Given the description of an element on the screen output the (x, y) to click on. 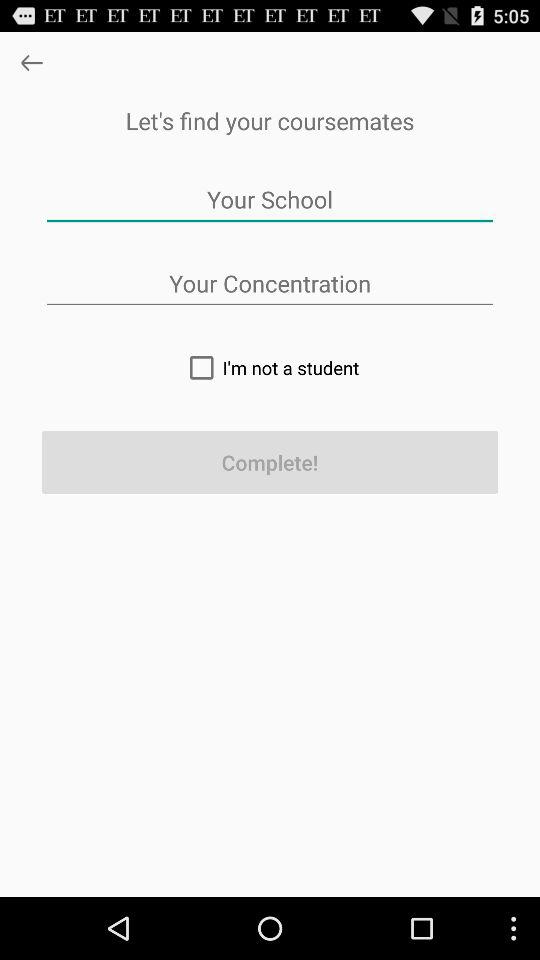
flip until complete! (269, 461)
